Given the description of an element on the screen output the (x, y) to click on. 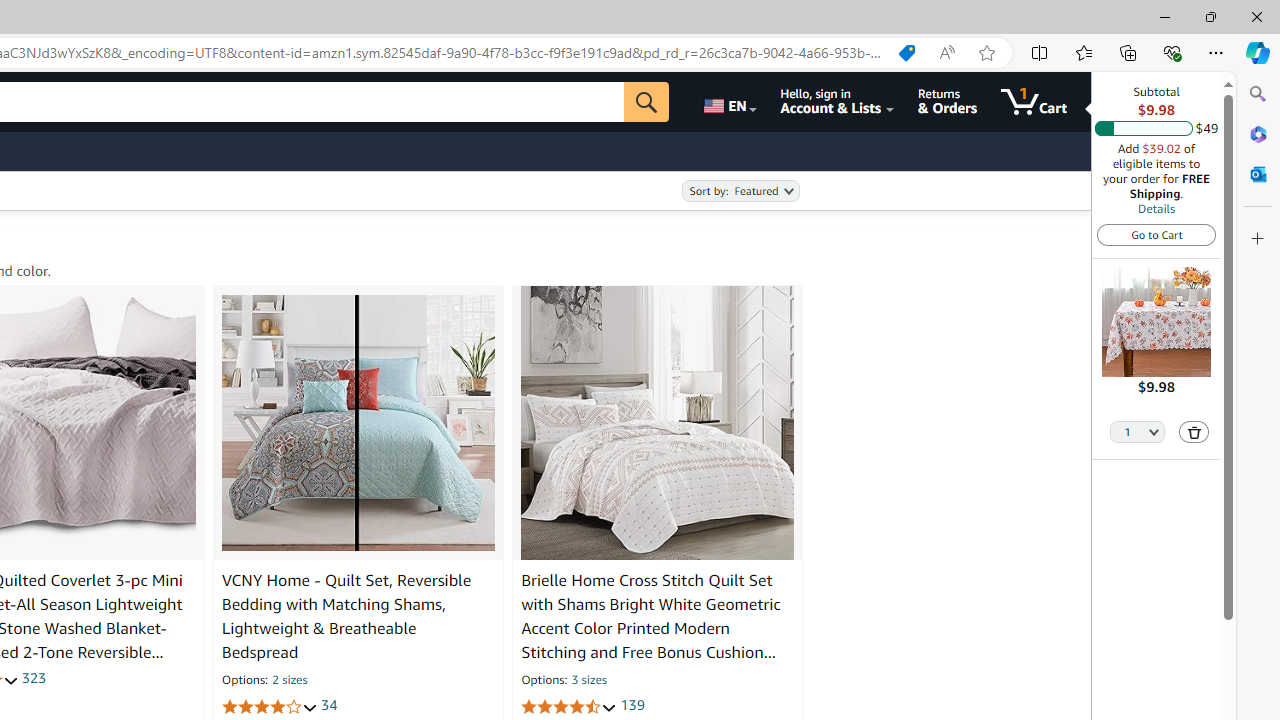
3.9 out of 5 stars (269, 706)
Returns & Orders (946, 101)
Outlook (1258, 174)
Customize (1258, 239)
Quantity Selector (1137, 430)
